Given the description of an element on the screen output the (x, y) to click on. 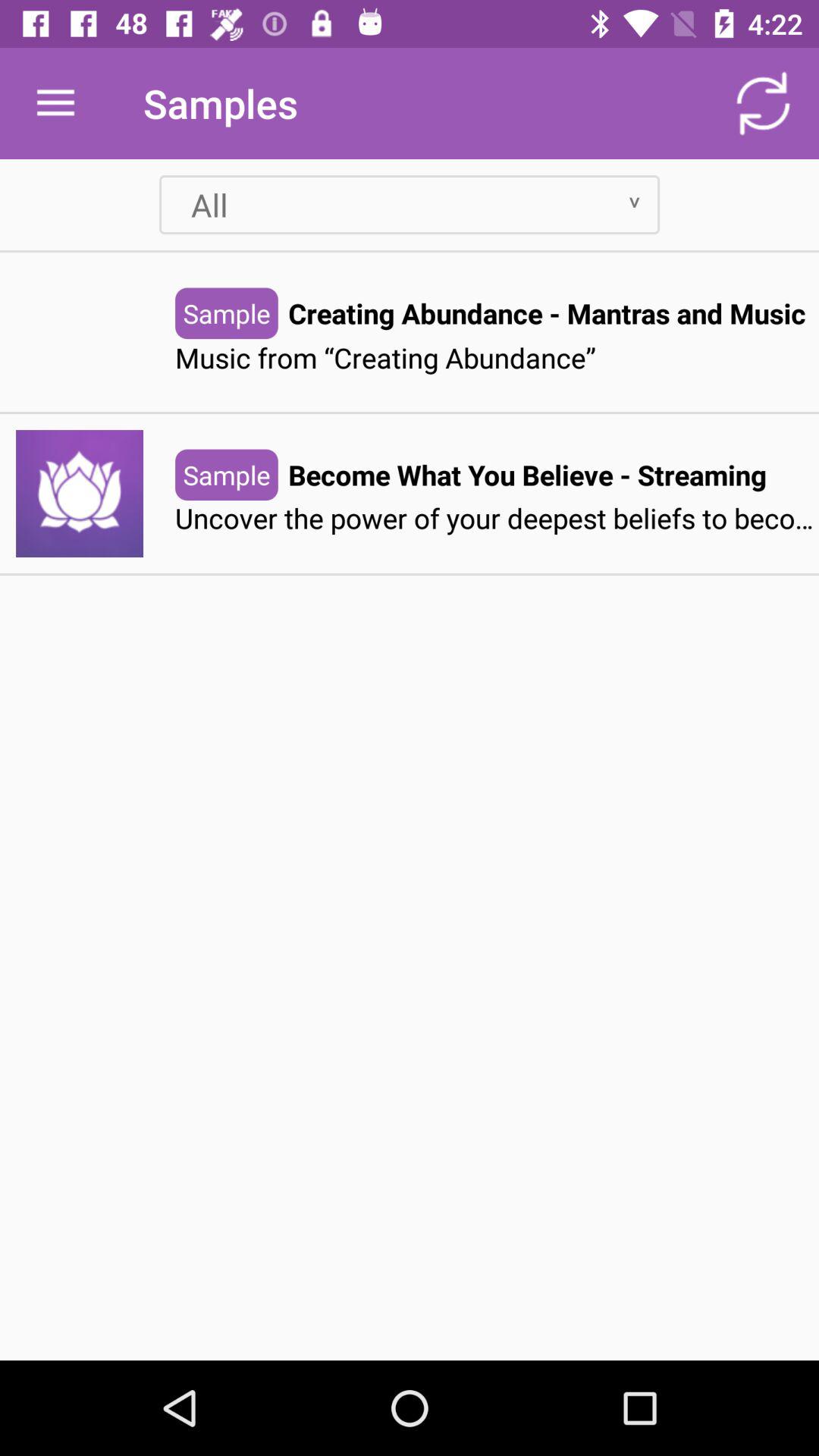
click item to the right of samples icon (763, 103)
